Given the description of an element on the screen output the (x, y) to click on. 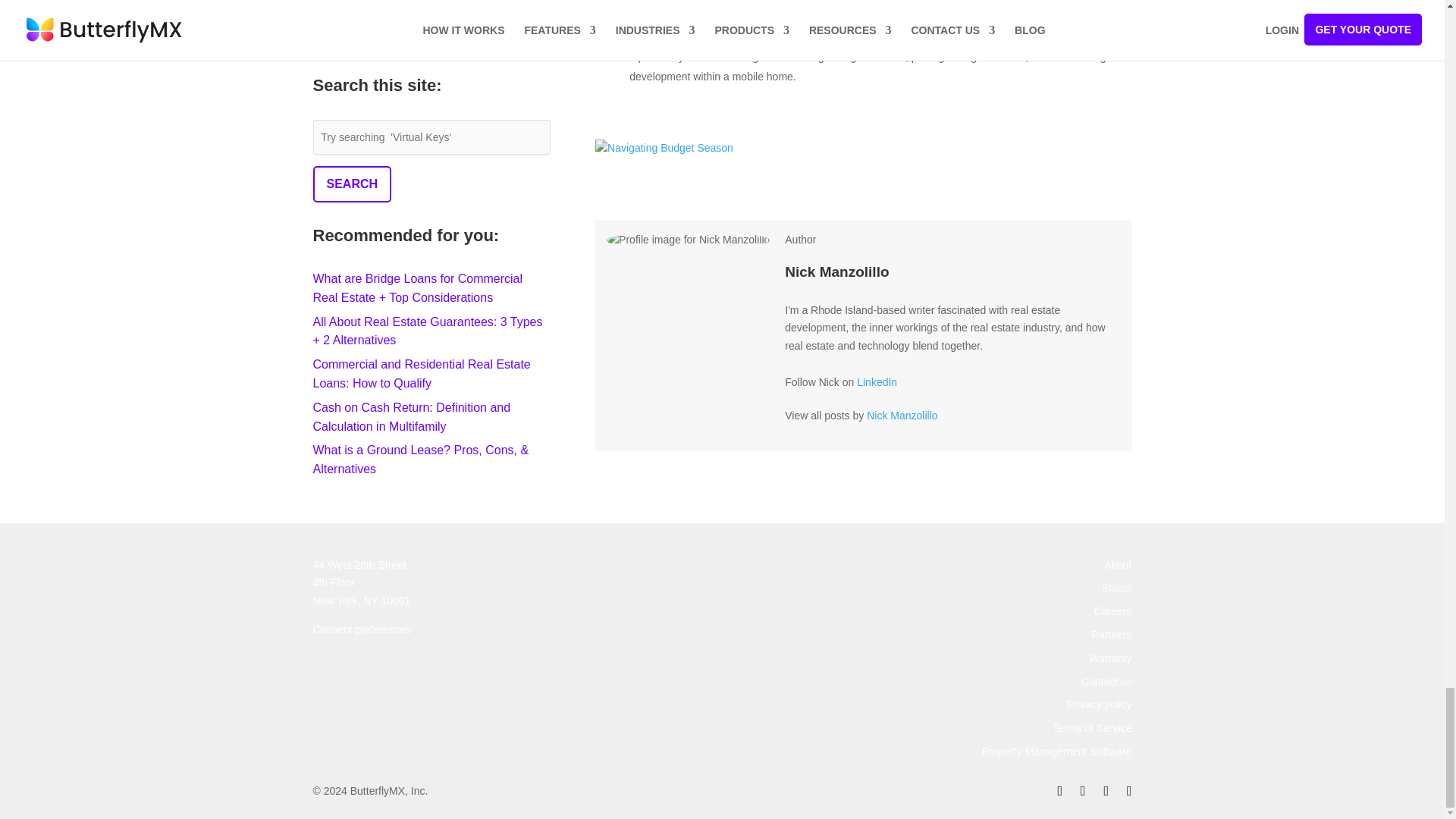
Posts by Nick Manzolillo (901, 415)
